Given the description of an element on the screen output the (x, y) to click on. 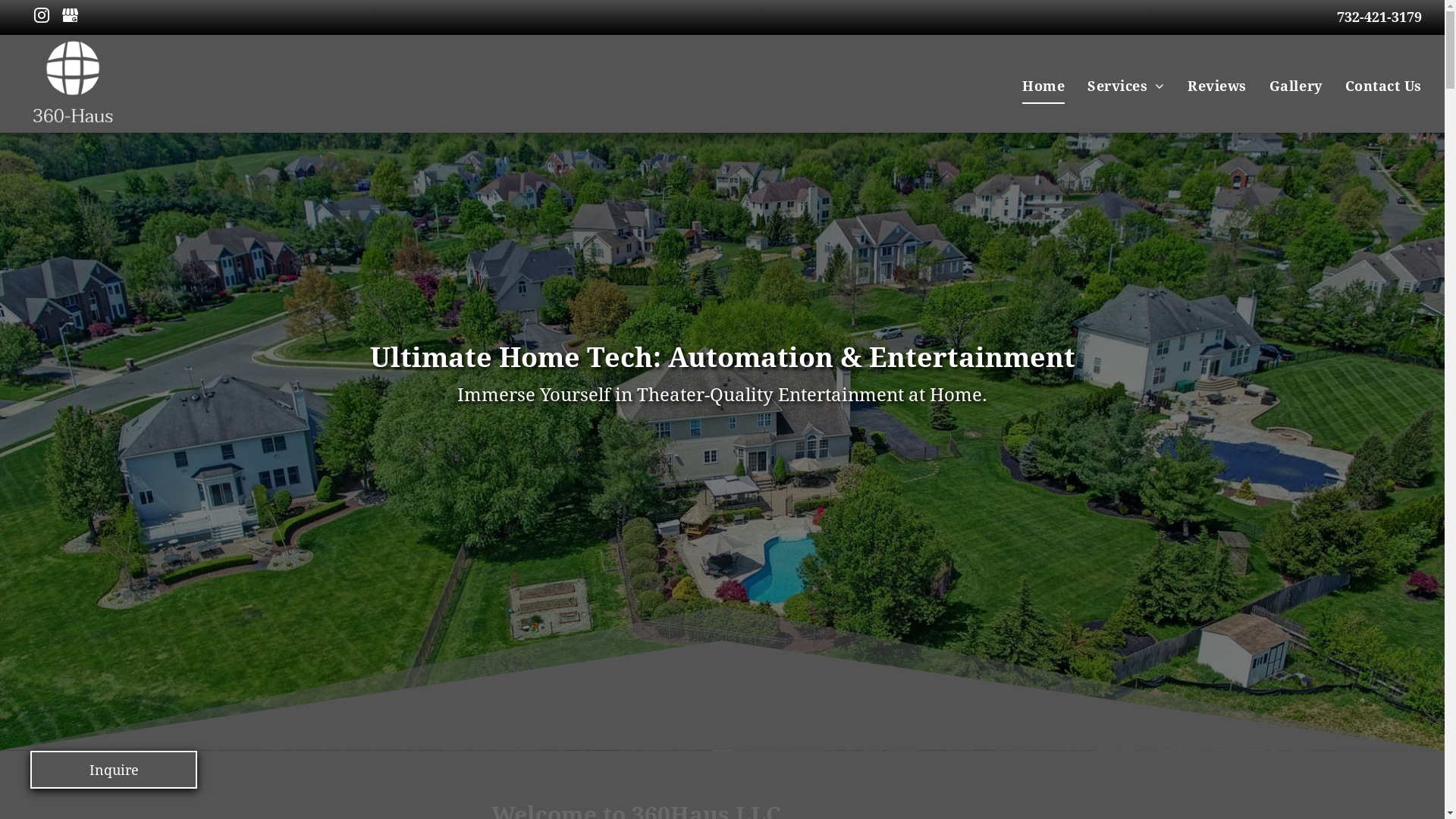
Contact Us Element type: text (1383, 85)
Services Element type: text (1126, 85)
Gallery Element type: text (1295, 85)
732-421-3179 Element type: text (1378, 17)
Reviews Element type: text (1217, 85)
Home Element type: text (1043, 85)
Inquire Element type: text (113, 769)
